Given the description of an element on the screen output the (x, y) to click on. 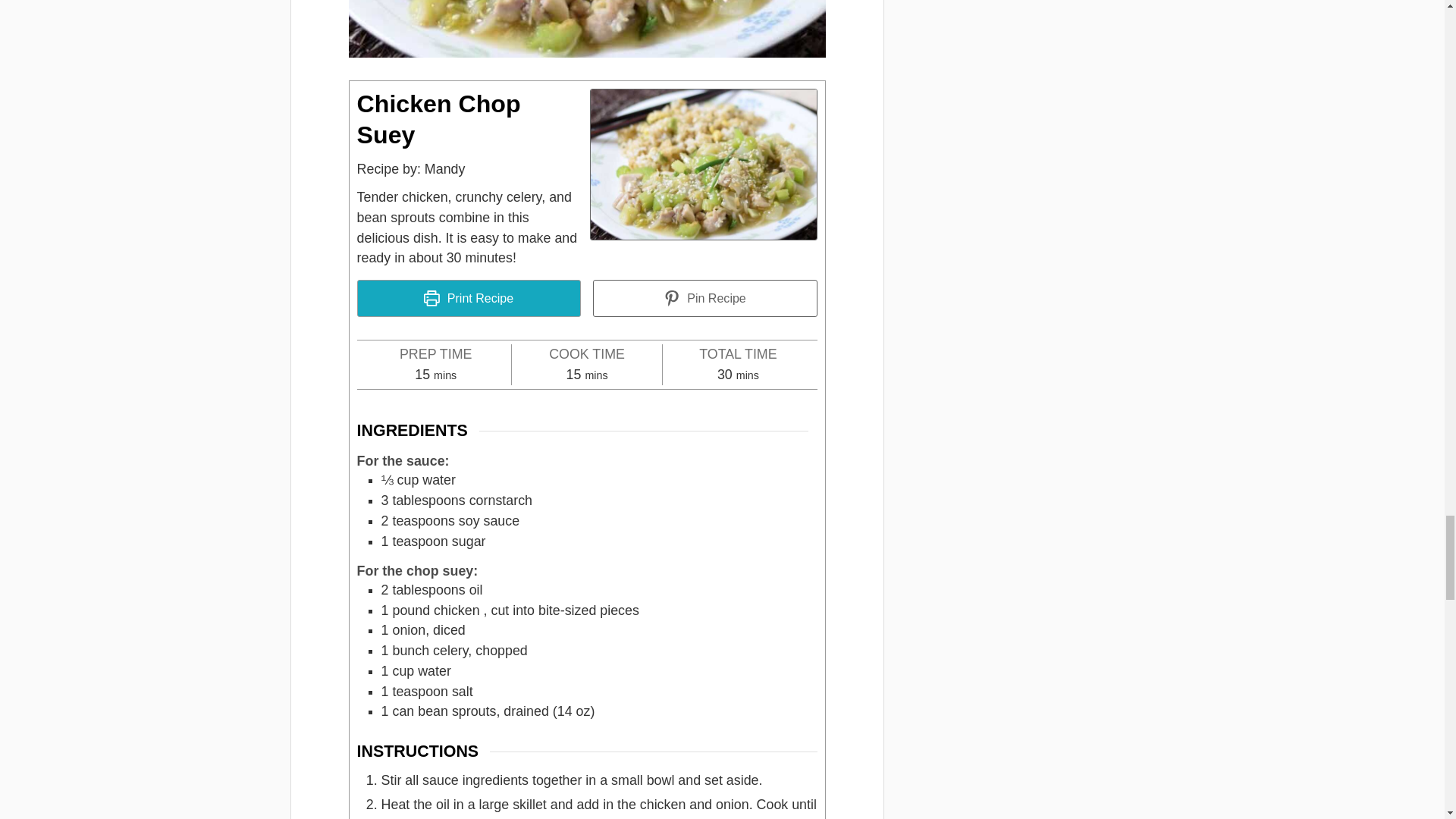
Print Recipe (468, 298)
Pin Recipe (704, 298)
